Given the description of an element on the screen output the (x, y) to click on. 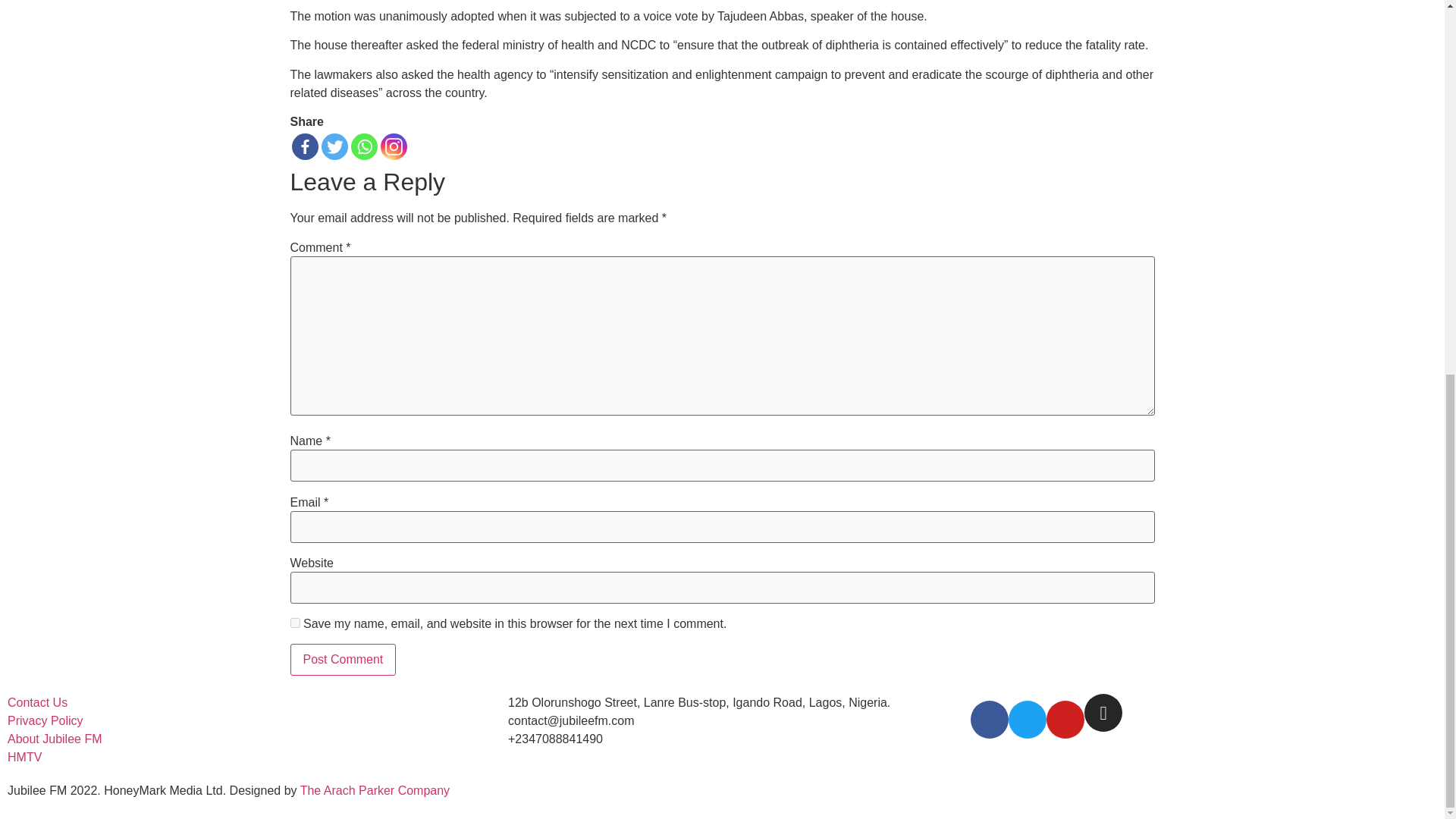
The Arach Parker Company (374, 789)
Contact Us (36, 702)
About Jubilee FM (54, 739)
Post Comment (342, 659)
Post Comment (342, 659)
Facebook (304, 146)
Instagram (393, 146)
Whatsapp (363, 146)
yes (294, 623)
HMTV (24, 757)
Twitter (334, 146)
Privacy Policy (44, 720)
